Given the description of an element on the screen output the (x, y) to click on. 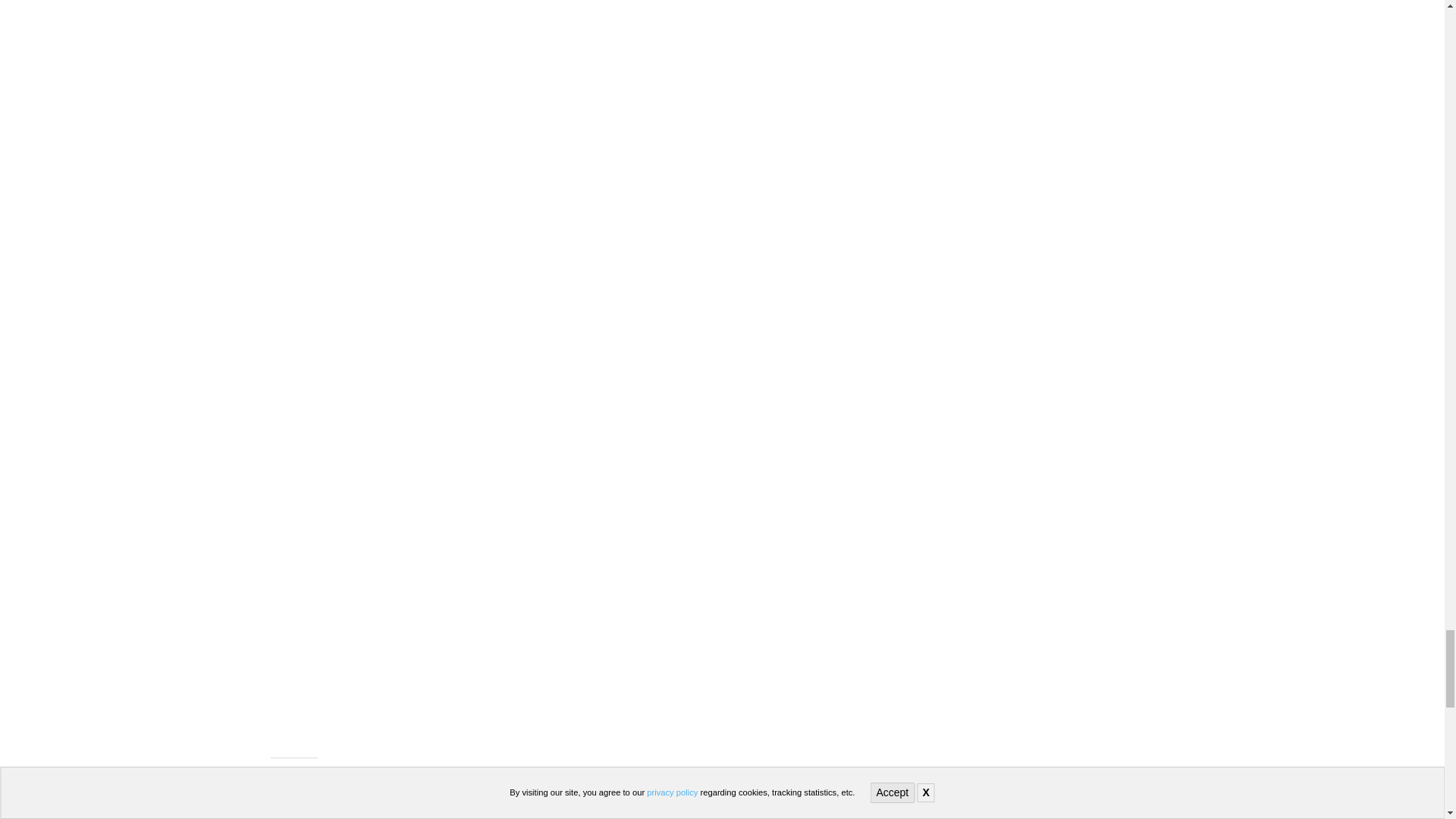
Click to share on Twitter (300, 798)
Click to share on Tumblr (453, 798)
Click to share on Facebook (376, 798)
